Given the description of an element on the screen output the (x, y) to click on. 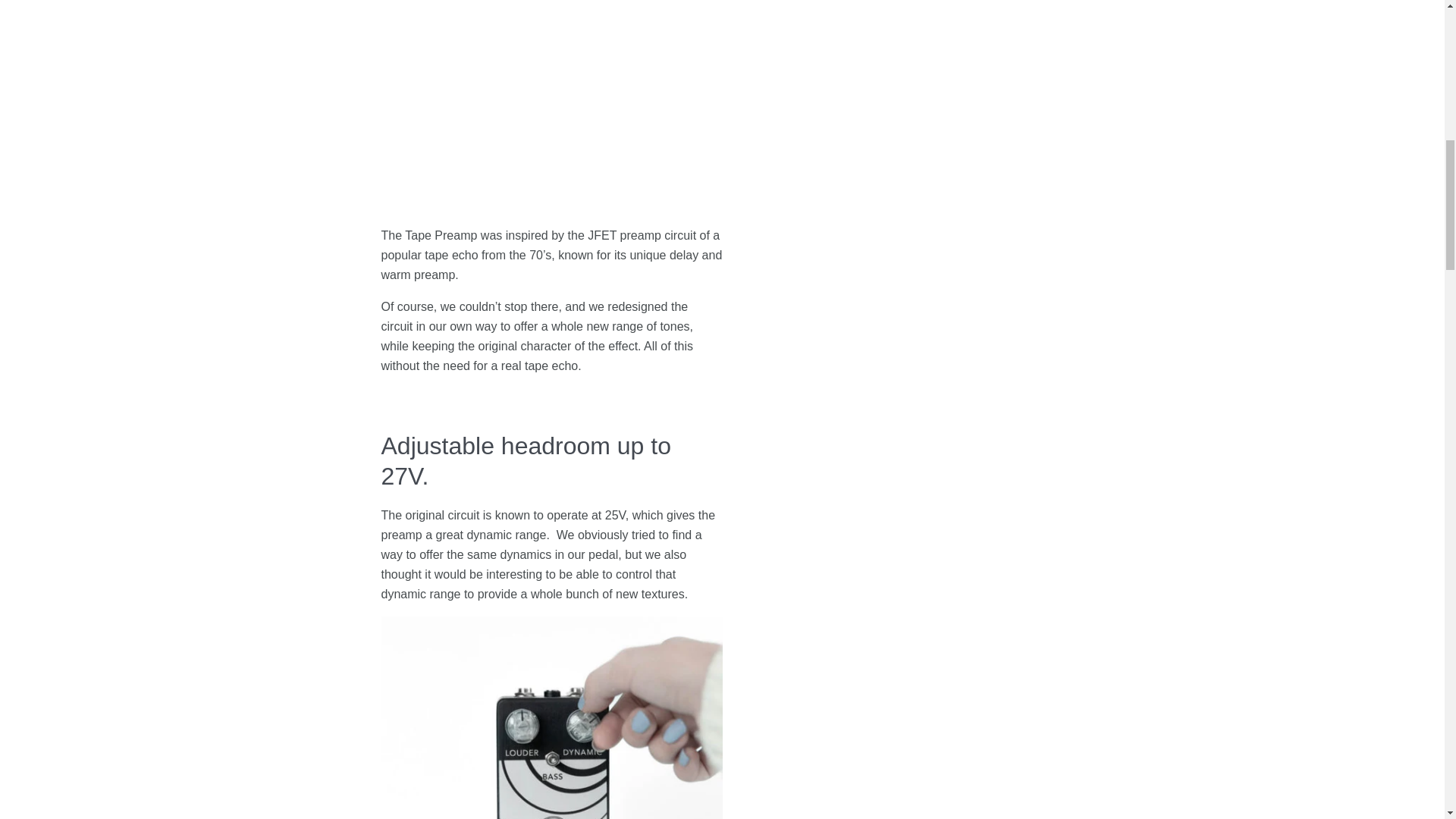
YouTube video player (592, 103)
